Given the description of an element on the screen output the (x, y) to click on. 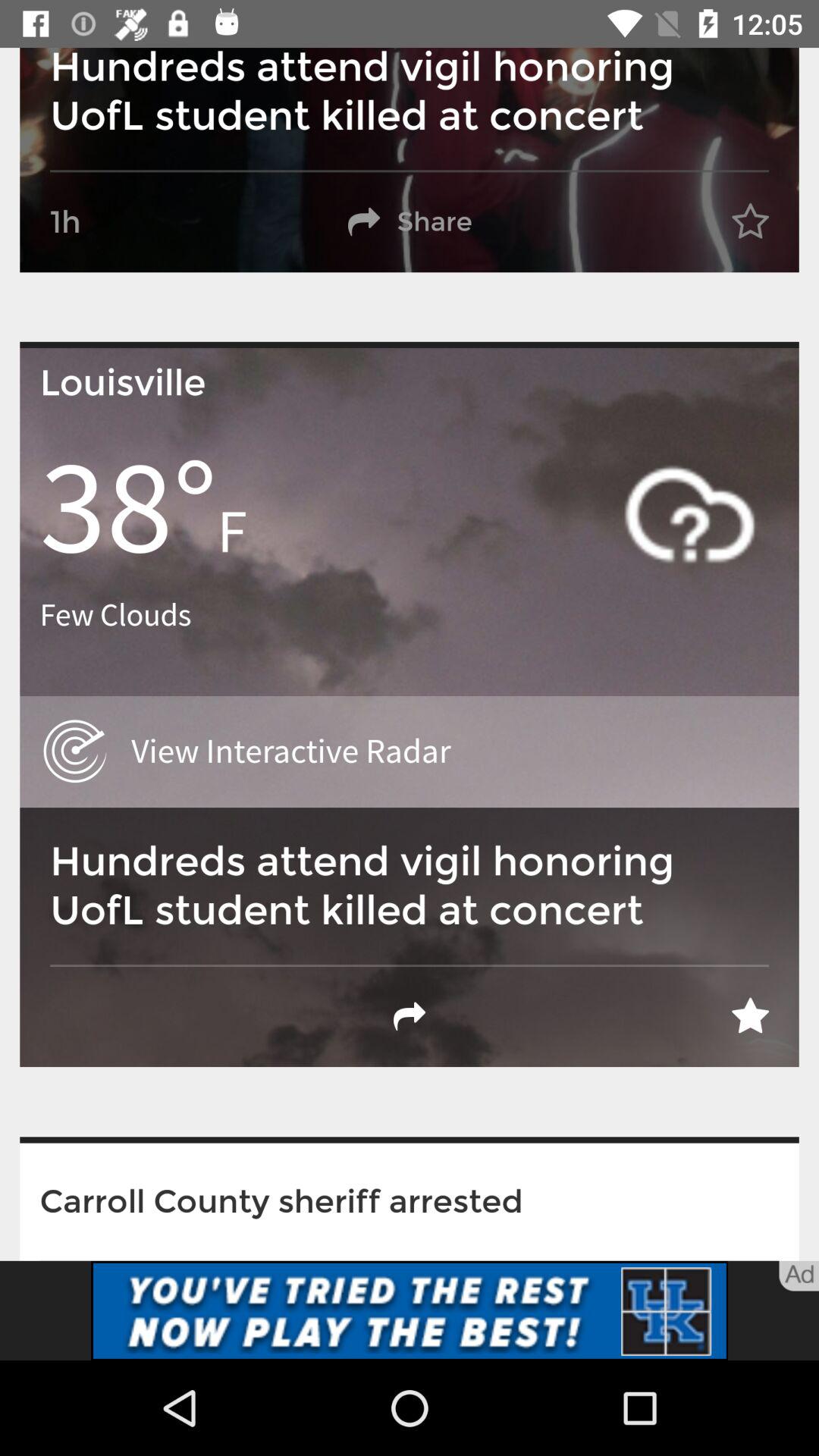
adverdisement (409, 1310)
